Given the description of an element on the screen output the (x, y) to click on. 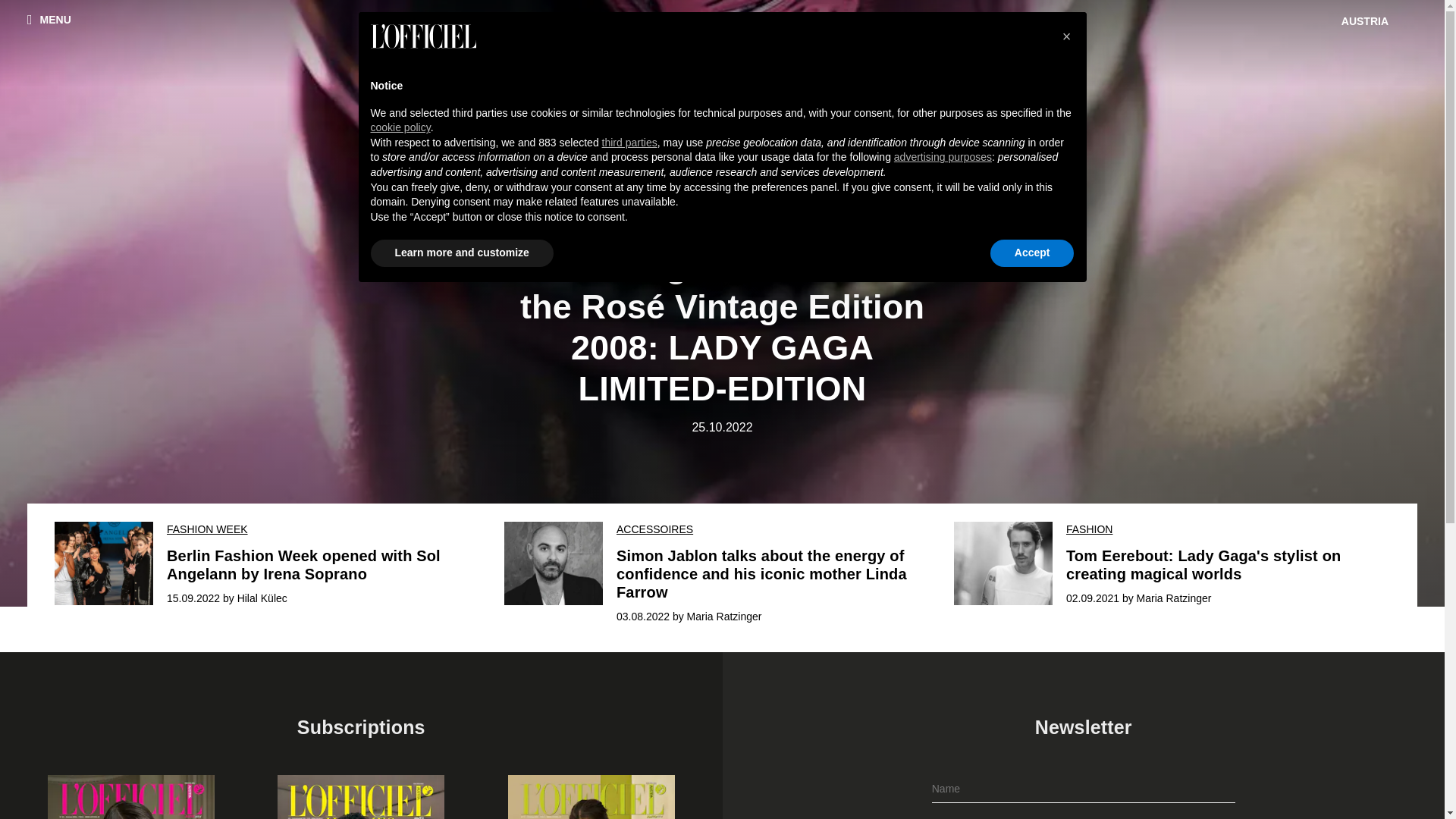
AUSTRIA (1366, 21)
MENU (49, 19)
L'Officiel austria (721, 42)
L'Officiel austria (722, 42)
